Given the description of an element on the screen output the (x, y) to click on. 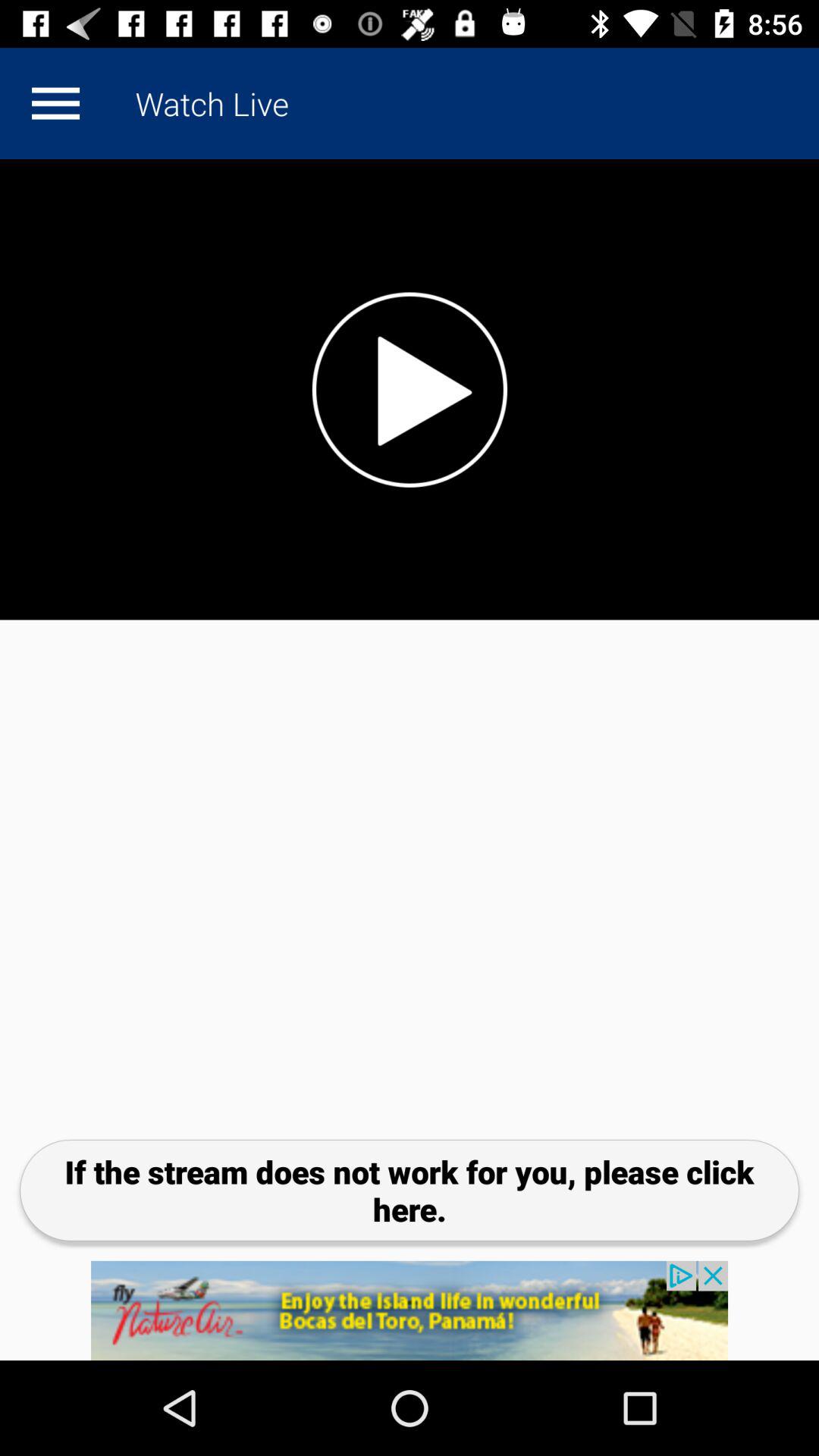
go to custum (55, 103)
